Given the description of an element on the screen output the (x, y) to click on. 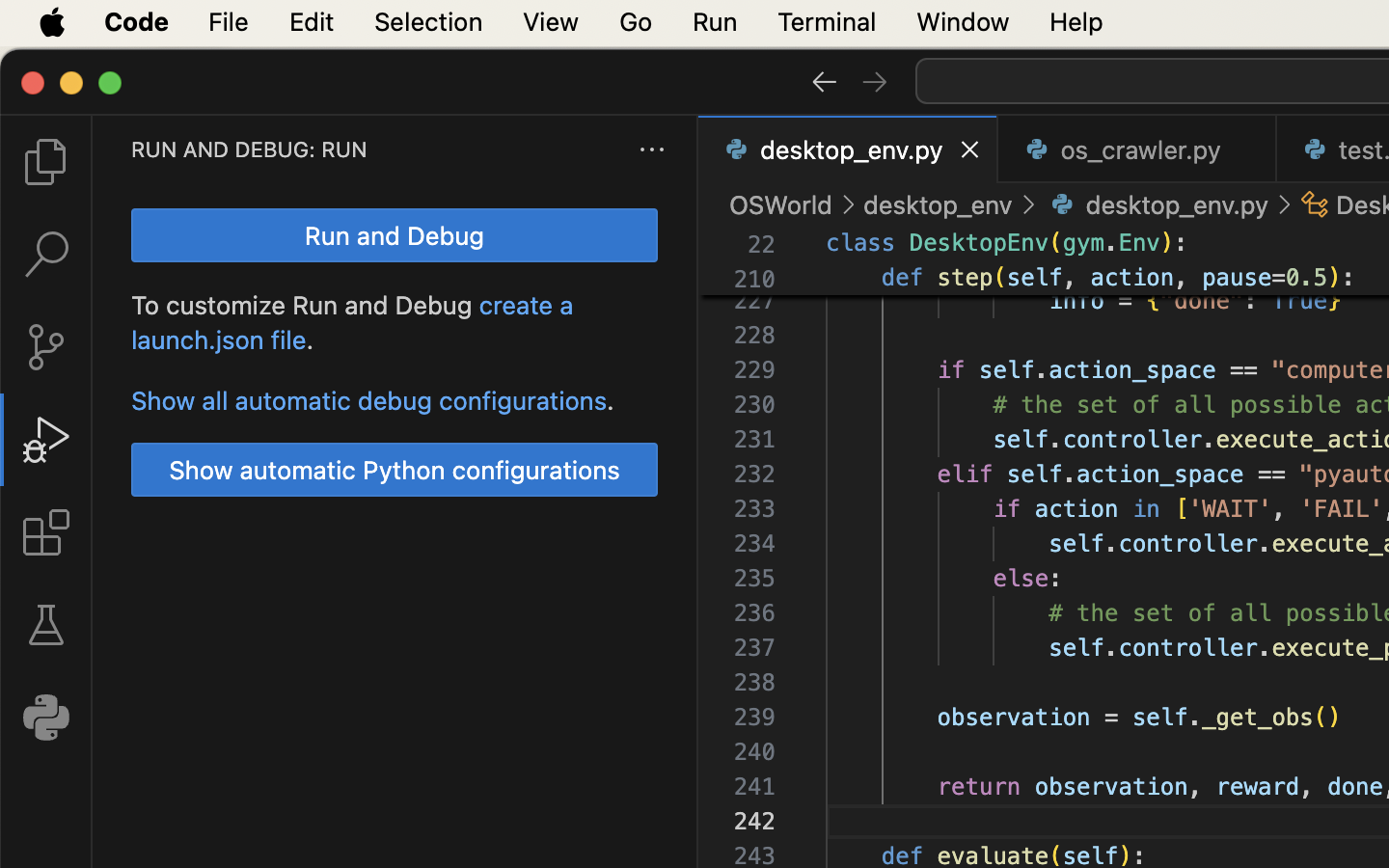
DesktopEnv Element type: AXStaticText (978, 242)
0.5 Element type: AXStaticText (1306, 277)
